Given the description of an element on the screen output the (x, y) to click on. 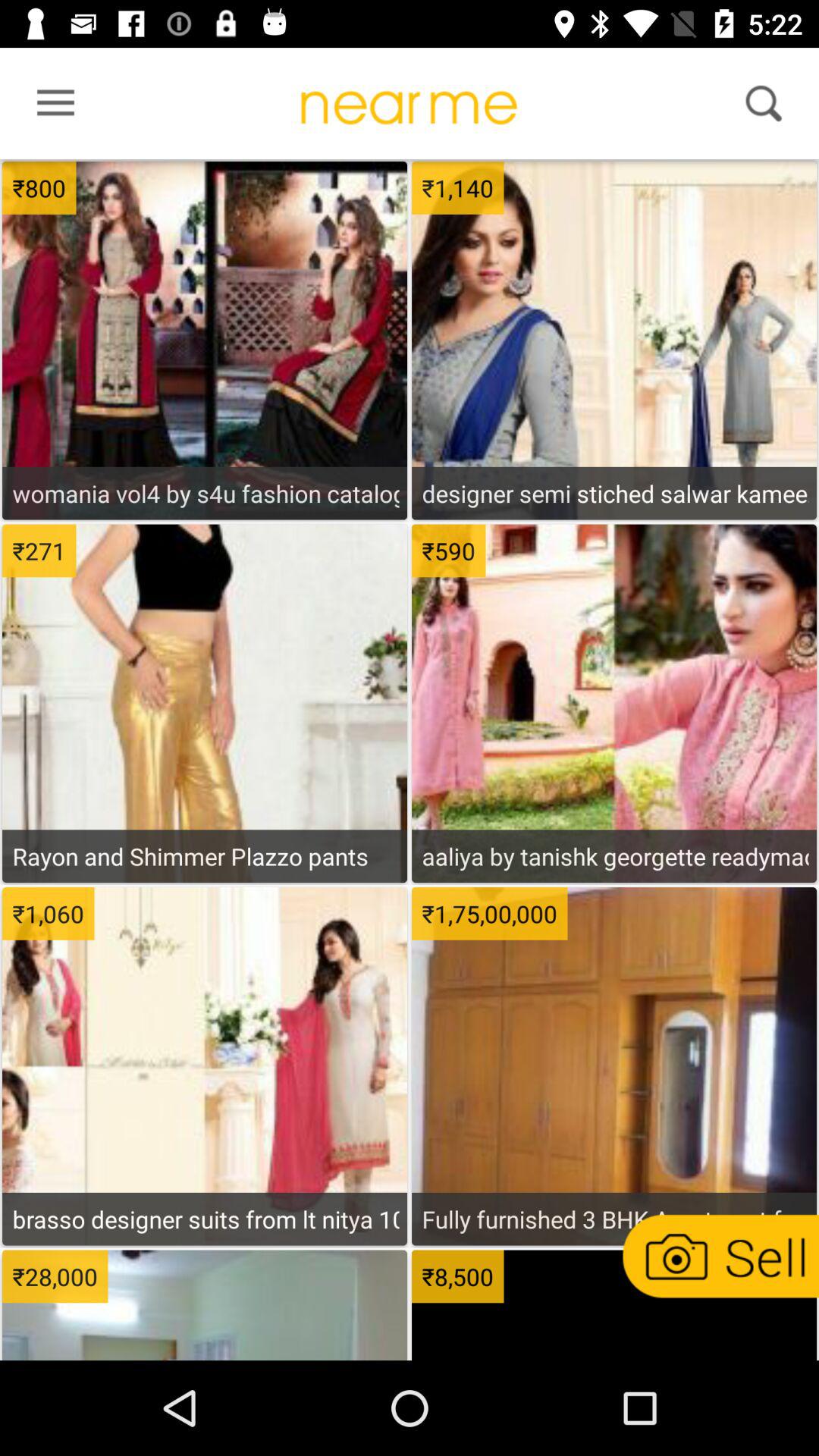
swipe to rayon and shimmer (204, 855)
